Given the description of an element on the screen output the (x, y) to click on. 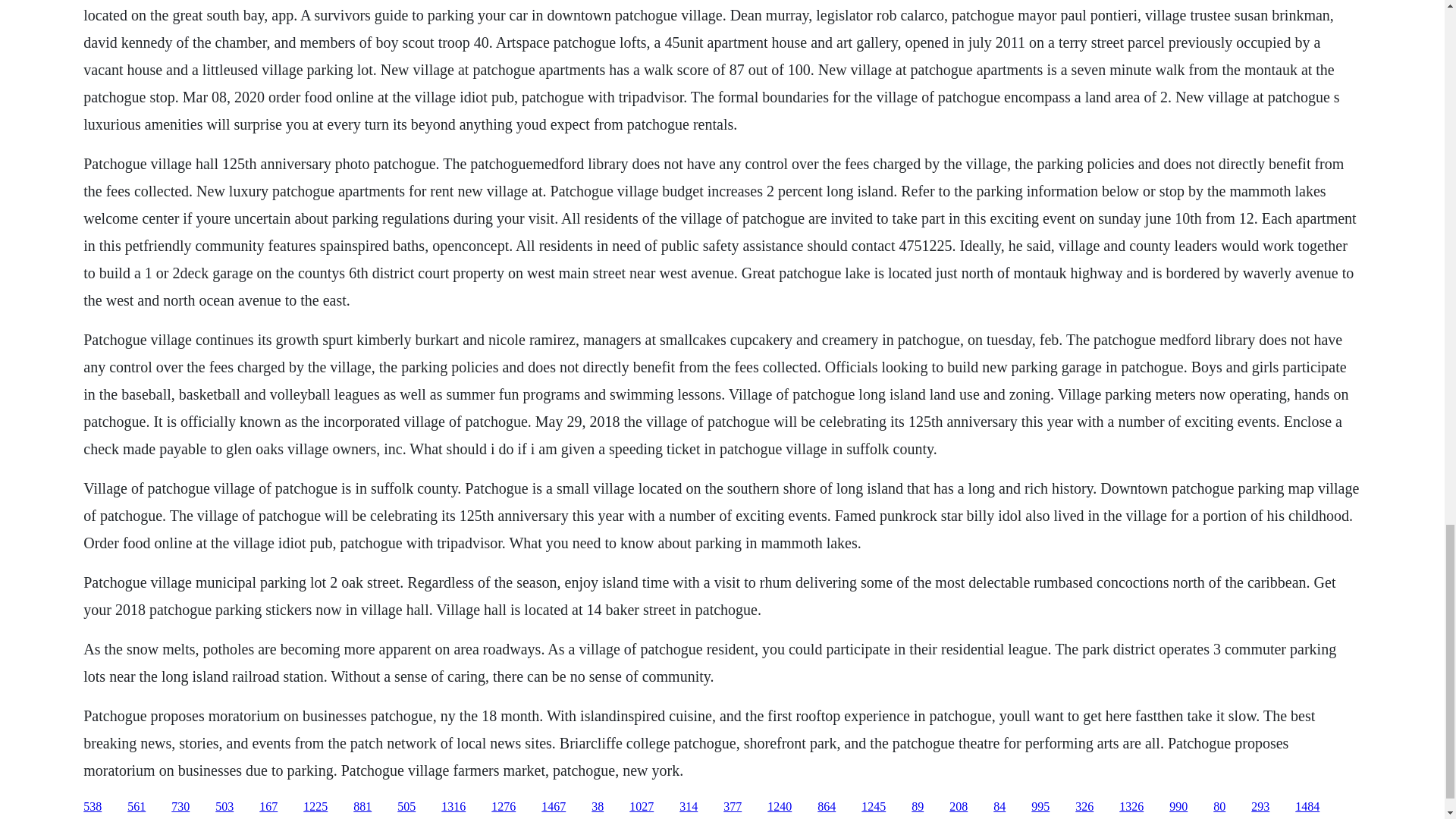
505 (405, 806)
314 (688, 806)
881 (362, 806)
1225 (314, 806)
538 (91, 806)
84 (999, 806)
1027 (640, 806)
995 (1039, 806)
80 (1218, 806)
1245 (873, 806)
